Given the description of an element on the screen output the (x, y) to click on. 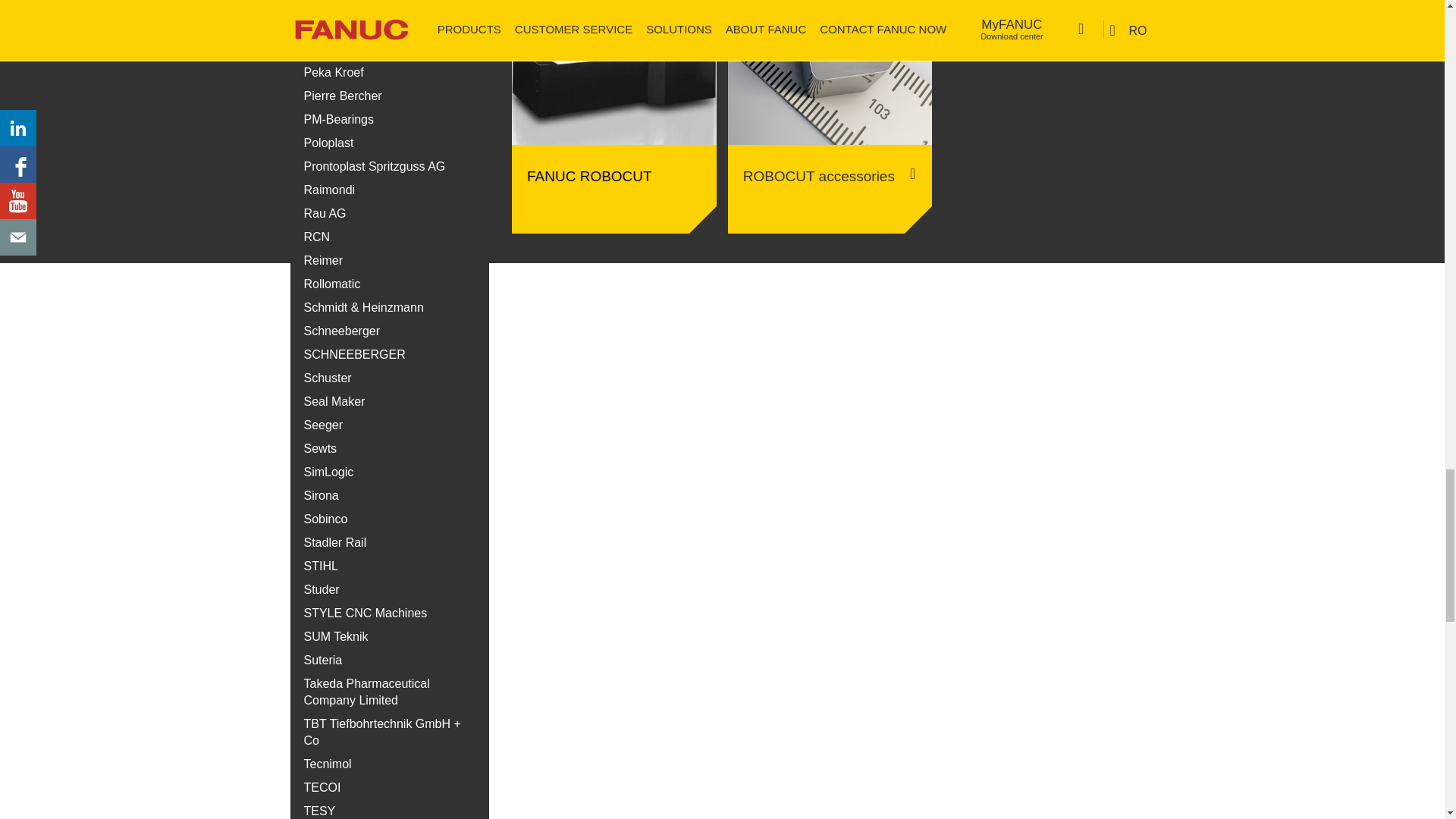
ROBOCUT Accessories (830, 167)
